Given the description of an element on the screen output the (x, y) to click on. 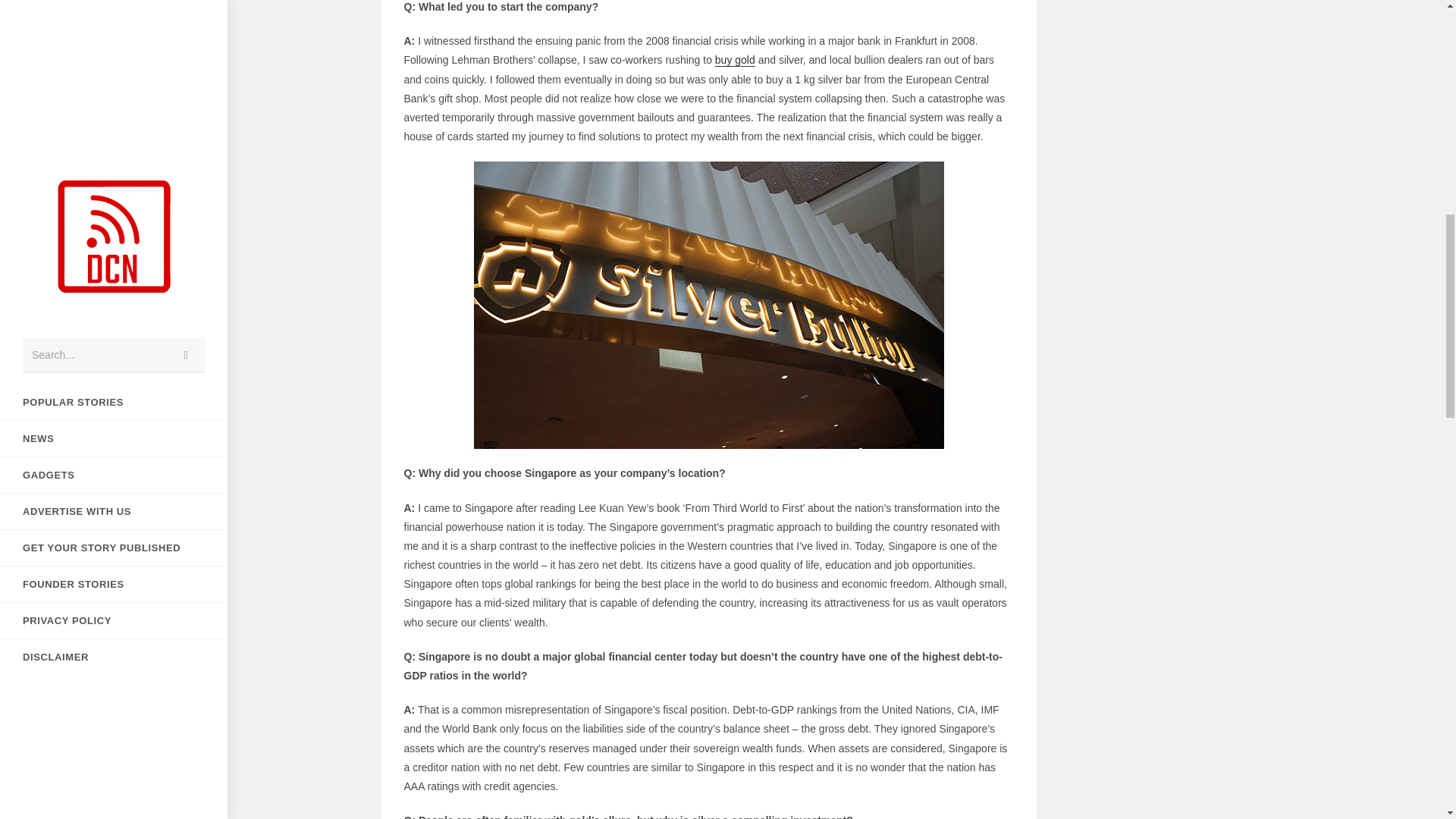
buy gold (734, 60)
